Given the description of an element on the screen output the (x, y) to click on. 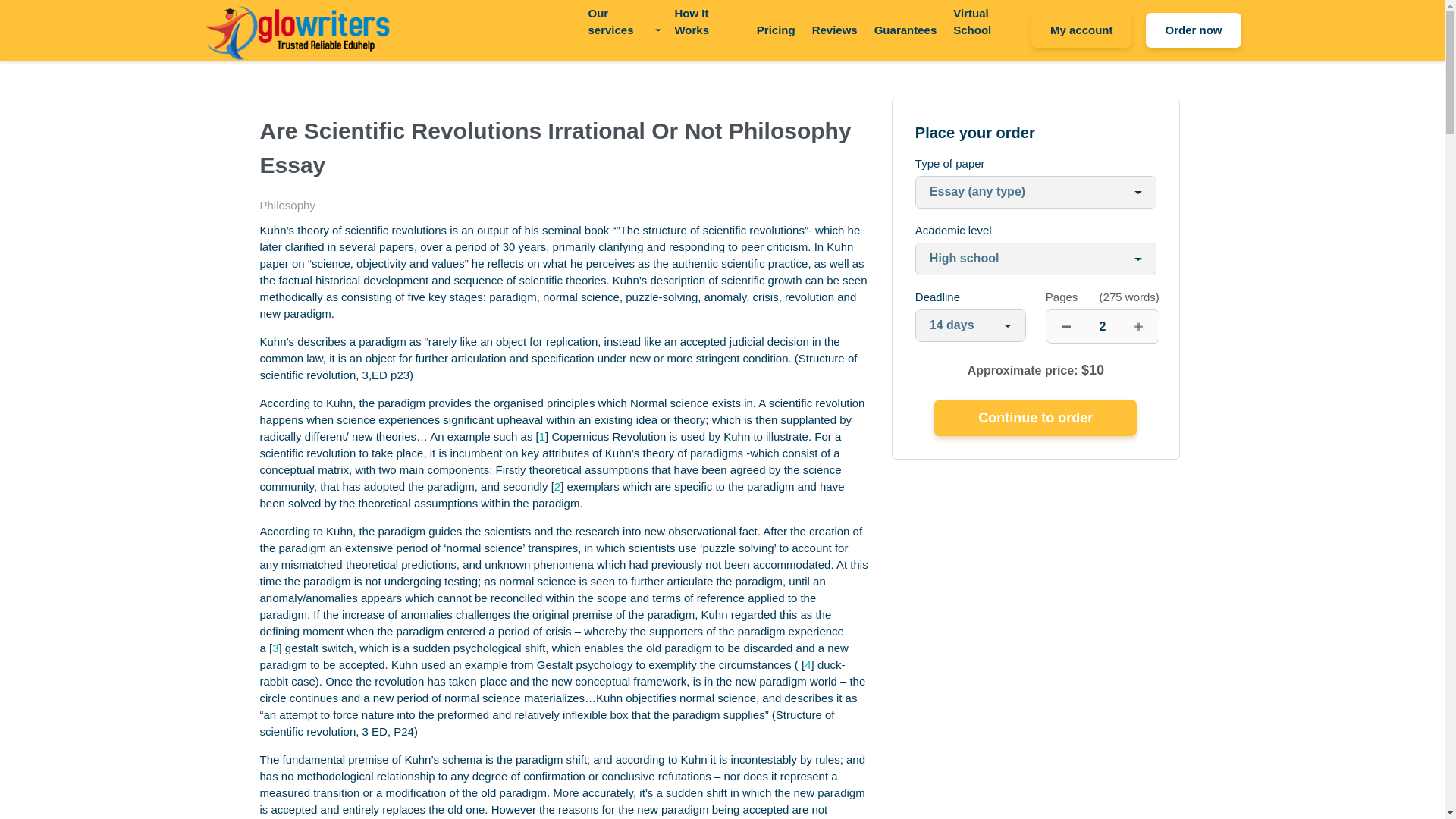
My account (1081, 30)
How It Works (706, 21)
Pricing (775, 30)
Order now (1192, 30)
Continue to order (1035, 417)
Guarantees (906, 30)
Reviews (834, 30)
2 (1102, 326)
Virtual School (988, 21)
Philosophy (286, 205)
